Given the description of an element on the screen output the (x, y) to click on. 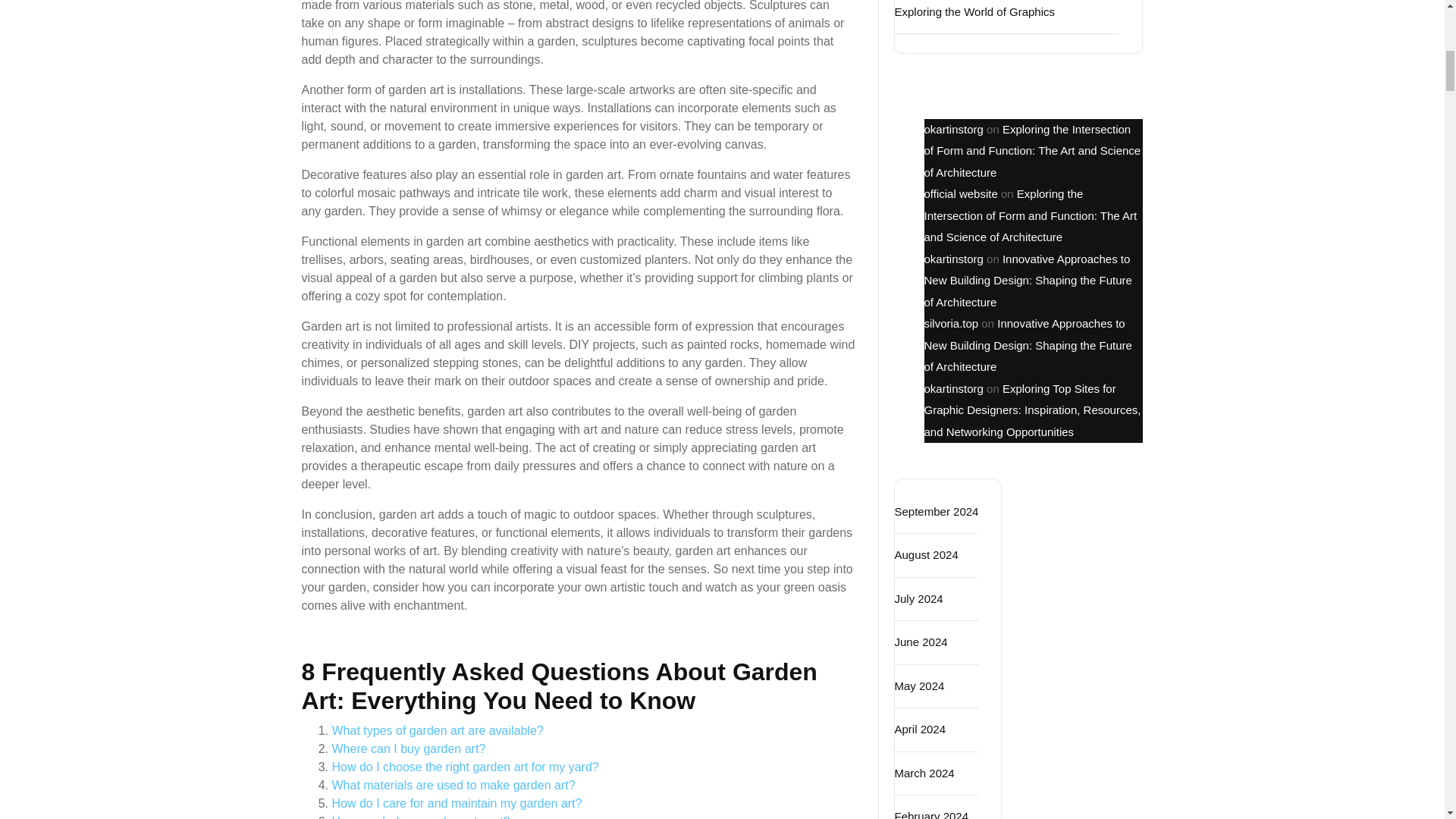
How do I choose the right garden art for my yard? (464, 766)
Where can I buy garden art? (408, 748)
How much does garden art cost? (421, 816)
How do I care for and maintain my garden art? (456, 802)
What types of garden art are available? (437, 730)
What materials are used to make garden art? (453, 784)
